Given the description of an element on the screen output the (x, y) to click on. 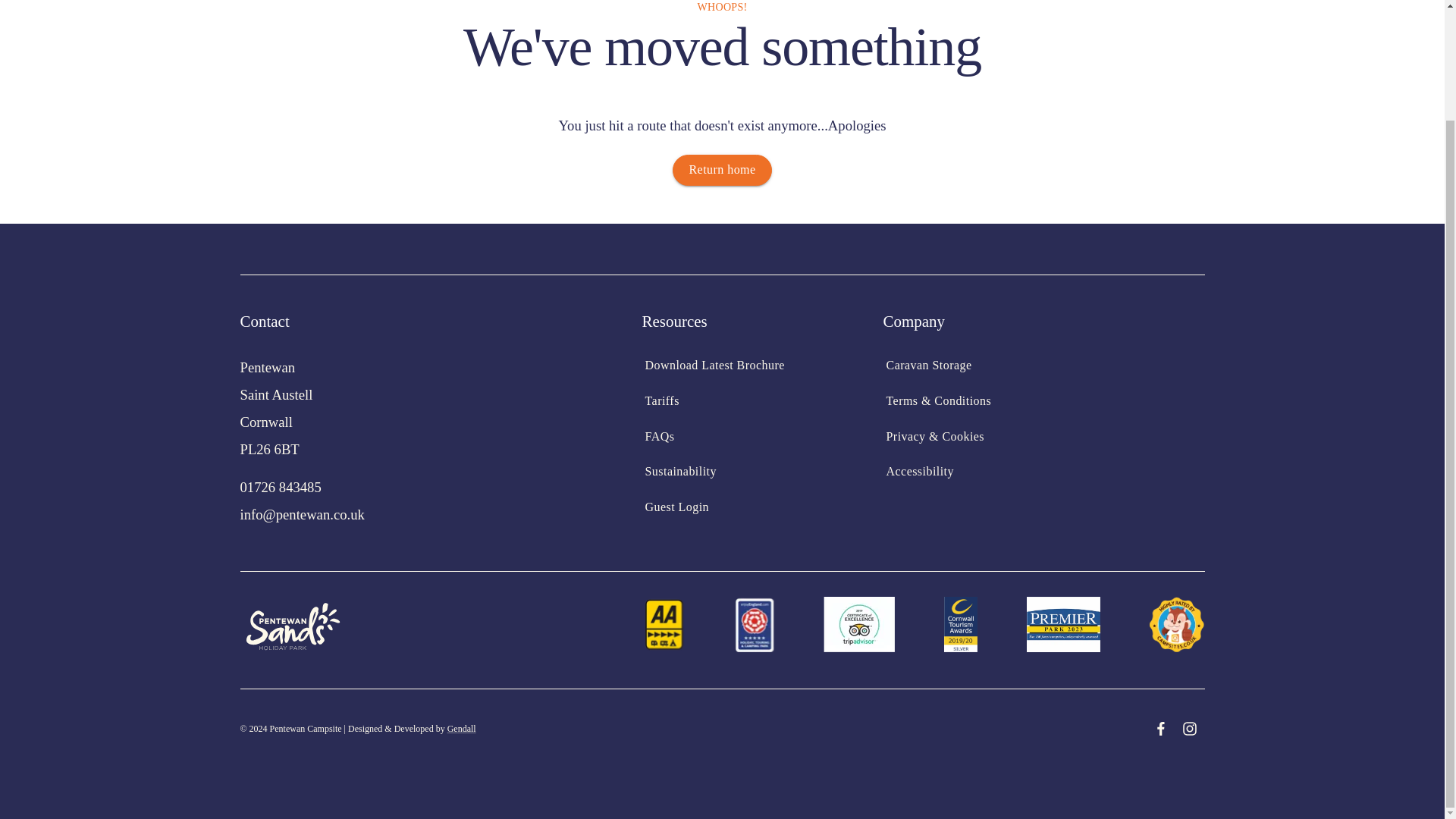
Sustainability (679, 471)
Download Latest Brochure (713, 365)
Guest Login (675, 507)
Accessibility (919, 471)
Tariffs (661, 401)
Return home (721, 169)
FAQs (658, 437)
Gendall (461, 728)
Caravan Storage (928, 365)
